Given the description of an element on the screen output the (x, y) to click on. 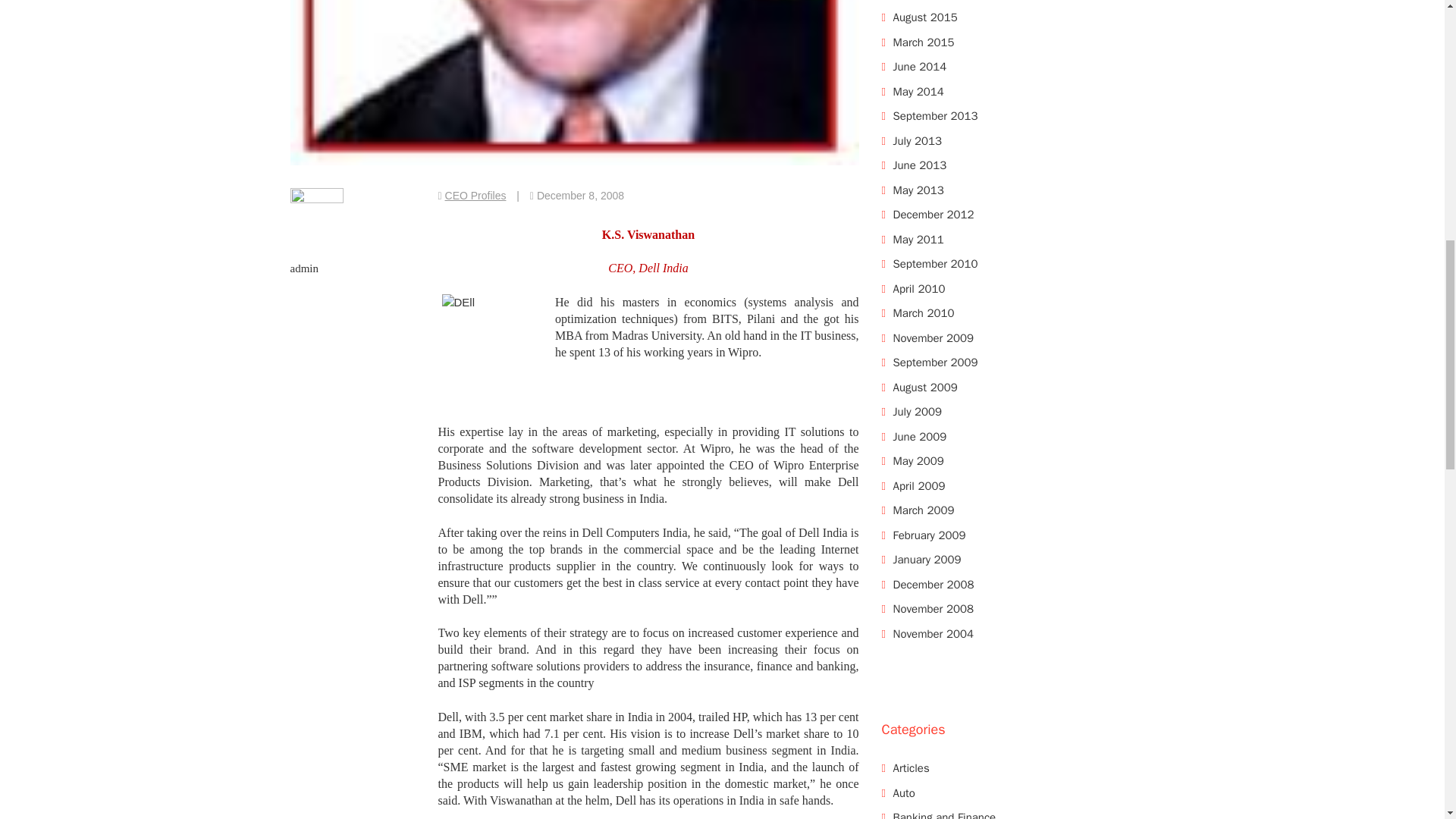
September 2013 (935, 115)
May 2011 (918, 238)
May 2014 (918, 91)
May 2013 (918, 190)
September 2010 (935, 264)
July 2013 (917, 140)
June 2013 (920, 164)
June 2014 (920, 66)
CEO Profiles (475, 195)
admin (303, 268)
August 2015 (925, 17)
Posts by admin (303, 268)
March 2015 (924, 41)
December 2012 (933, 214)
